Given the description of an element on the screen output the (x, y) to click on. 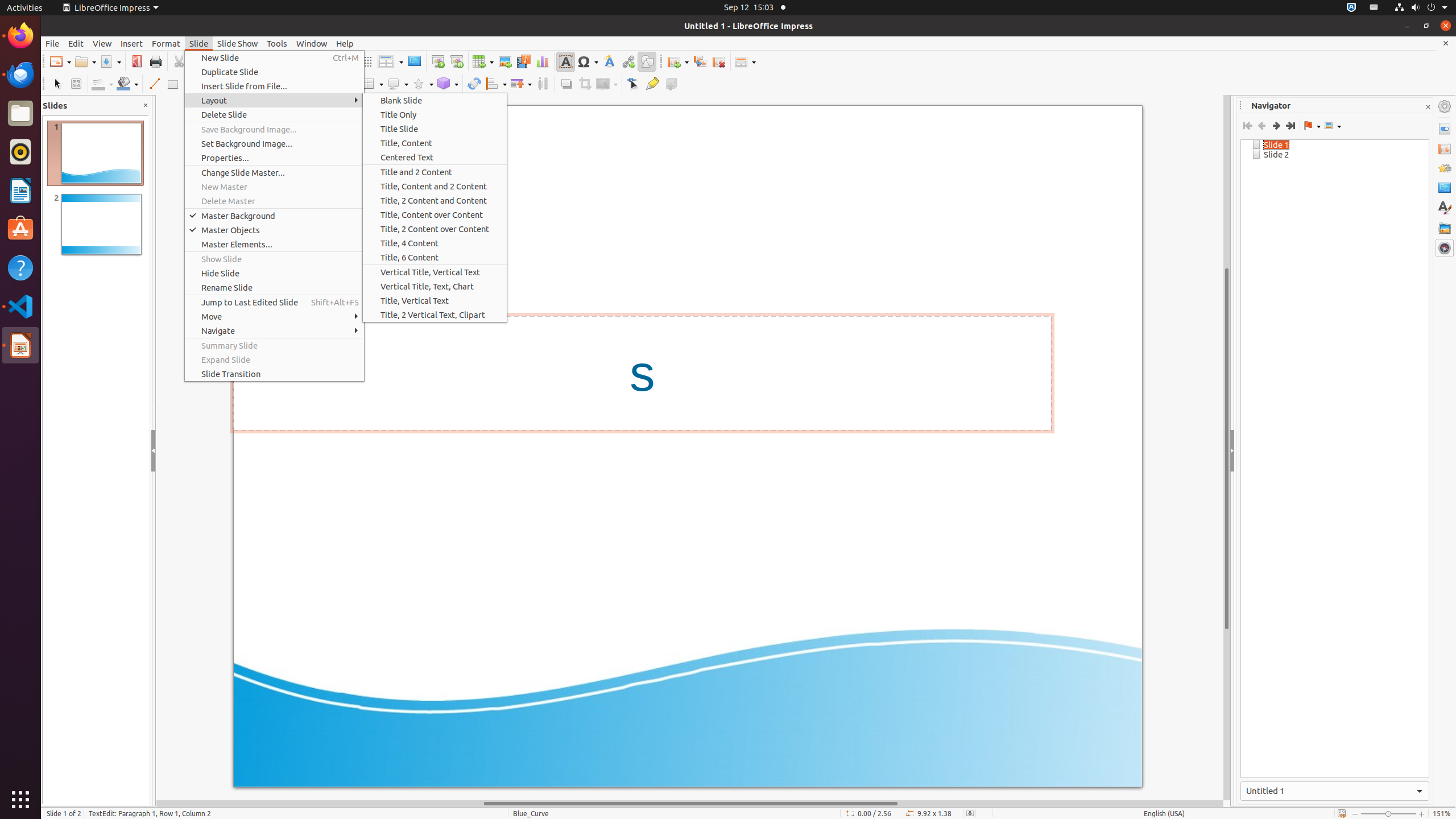
Edit Element type: menu (75, 43)
Line Element type: push-button (153, 83)
First Slide Element type: push-button (1247, 125)
Title and 2 Content Element type: menu-item (434, 171)
Change Slide Master... Element type: menu-item (274, 172)
